Given the description of an element on the screen output the (x, y) to click on. 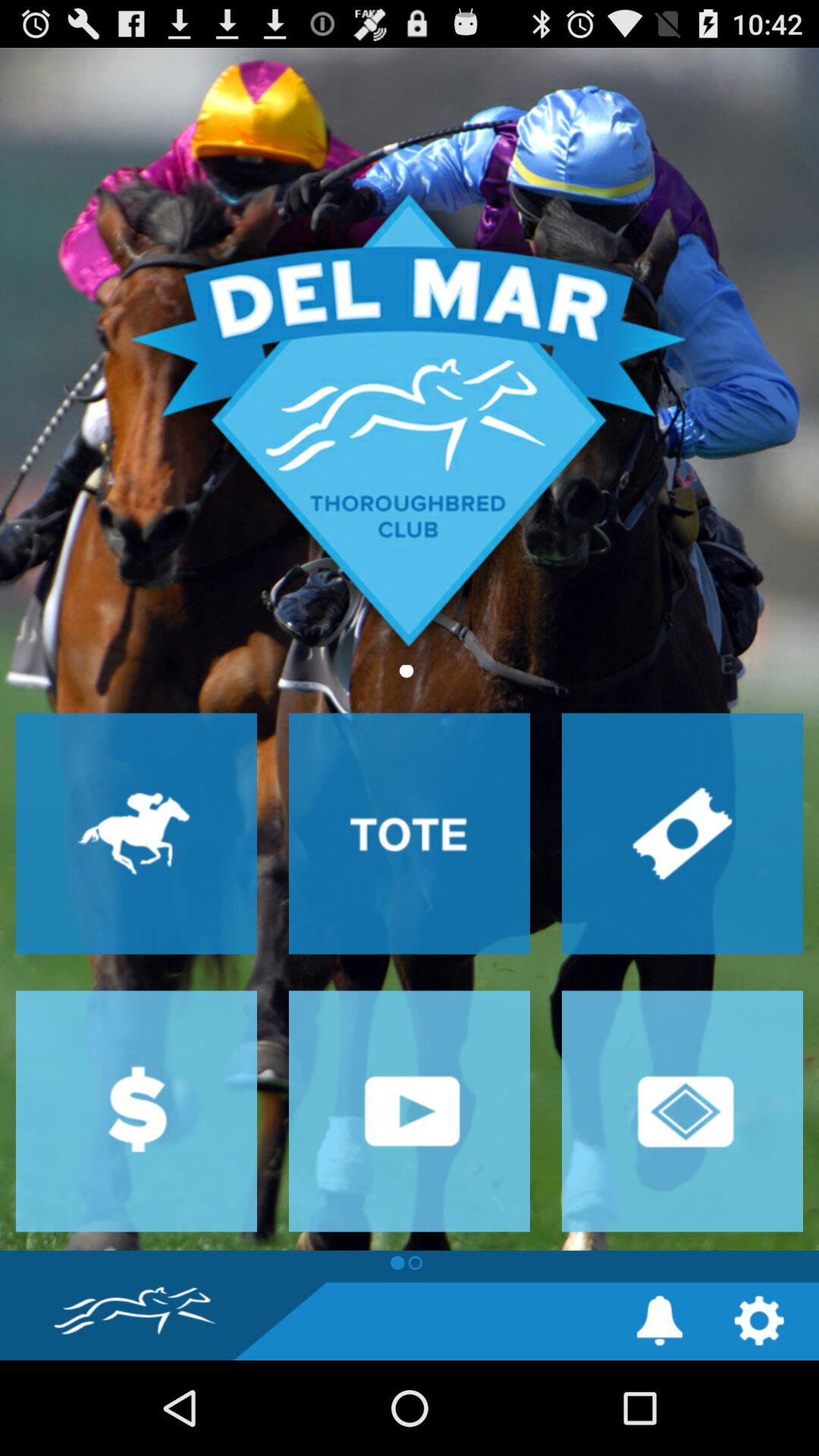
open notification options open alarm options (659, 1320)
